Given the description of an element on the screen output the (x, y) to click on. 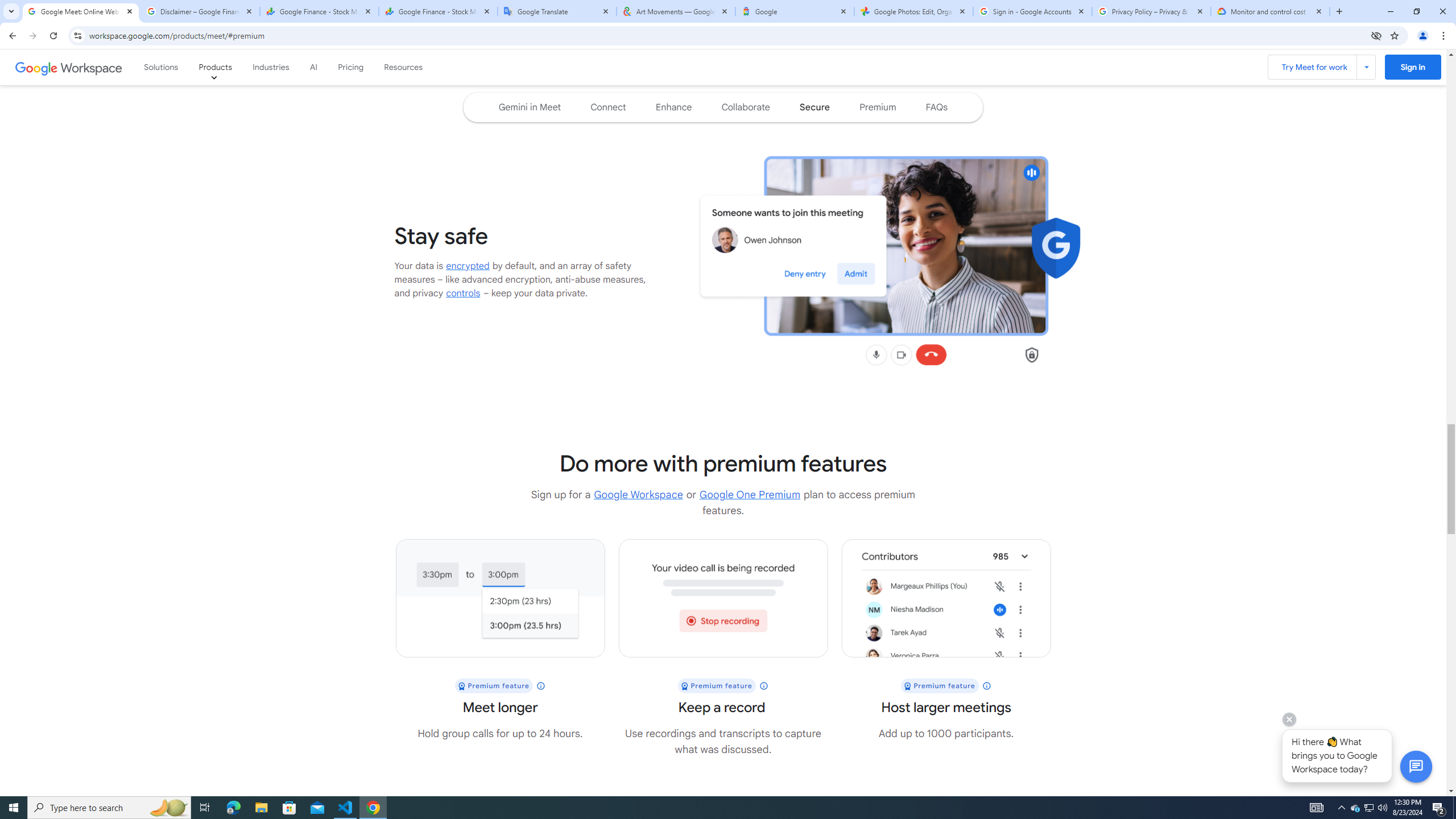
Industries (270, 67)
UI shows a meeting with 985 participants (946, 597)
controls (462, 292)
Solutions (161, 67)
Navigate to the Gemini in Meet section of the page (529, 107)
Try Meet for work (1321, 66)
encrypted (468, 265)
